Given the description of an element on the screen output the (x, y) to click on. 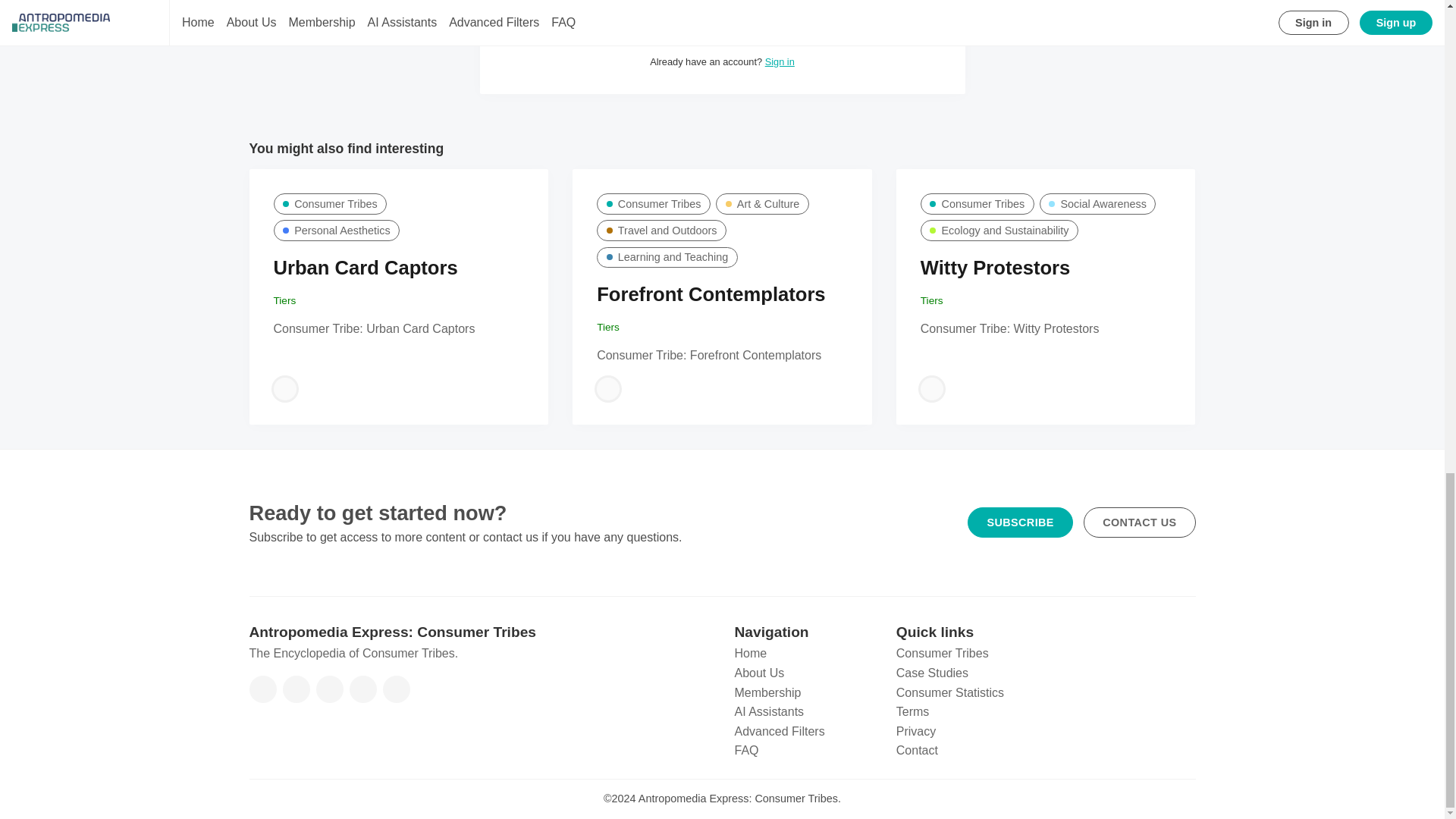
Consumer Tribes (330, 203)
SUBSCRIBE (721, 28)
RSS (395, 688)
Facebook (262, 688)
Digital Anthropology Bot (931, 388)
Twitter (295, 688)
Instagram (328, 688)
Linkedin (362, 688)
Digital Anthropology Bot (608, 388)
Sign in (779, 61)
